Given the description of an element on the screen output the (x, y) to click on. 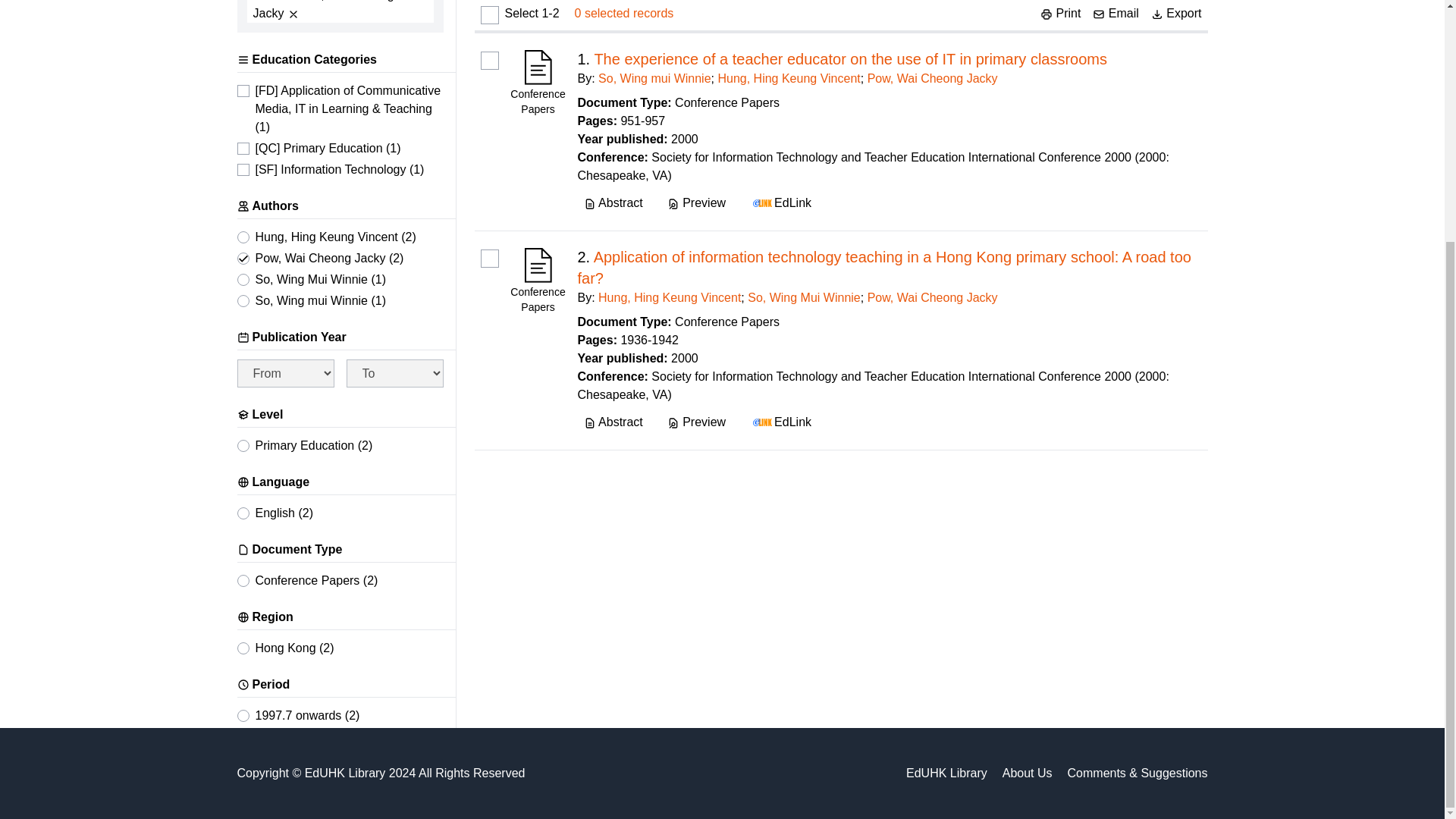
Print (1060, 13)
Export (1176, 13)
Email (1115, 13)
Abstract (613, 202)
Preview (696, 202)
EdLink (780, 202)
Hung, Hing Keung Vincent (788, 78)
Pow, Wai Cheong Jacky (932, 78)
0 selected records (624, 13)
So, Wing mui Winnie (654, 78)
